Given the description of an element on the screen output the (x, y) to click on. 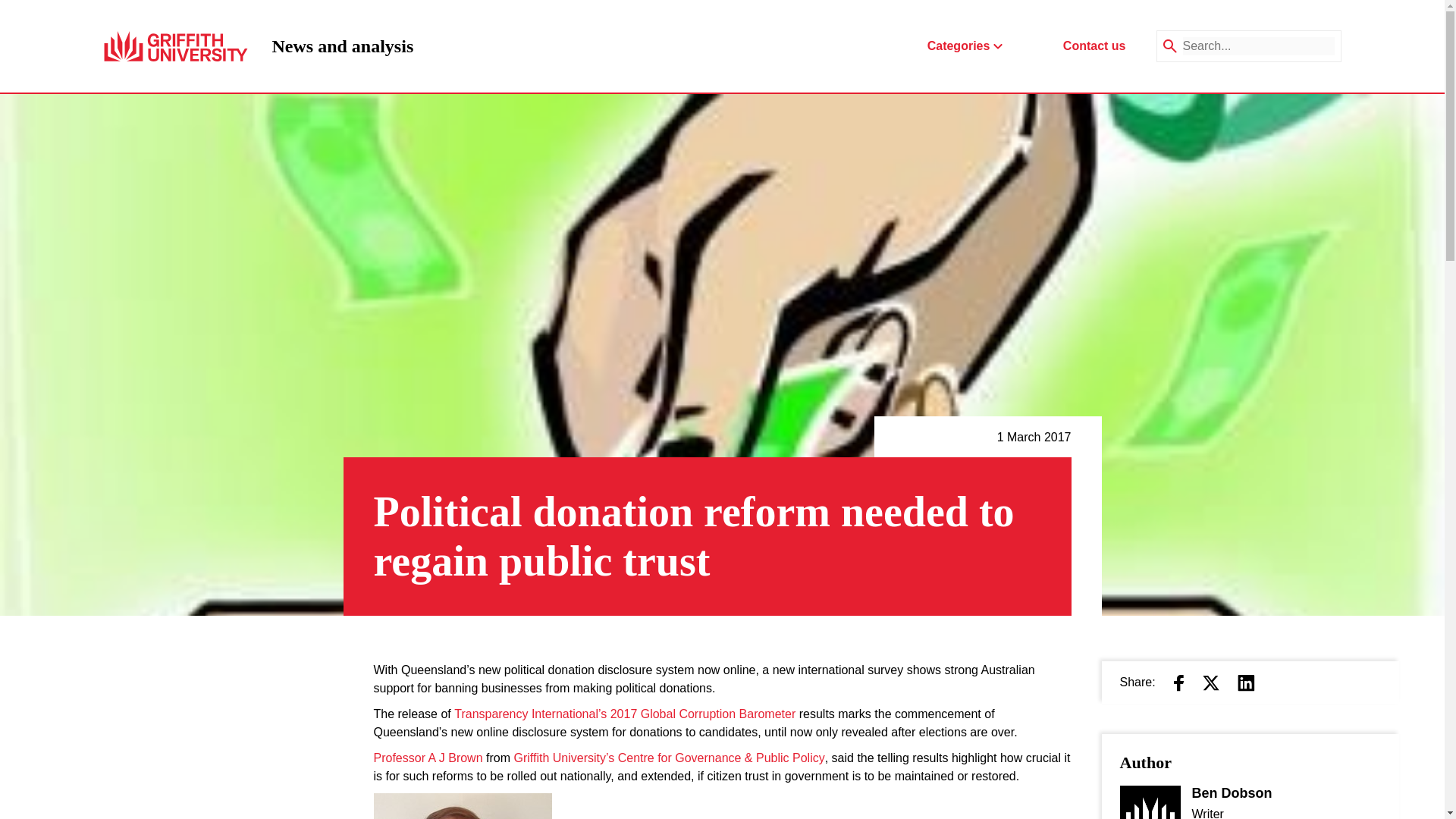
Contact us (1093, 45)
Professor A J Brown (426, 758)
